Given the description of an element on the screen output the (x, y) to click on. 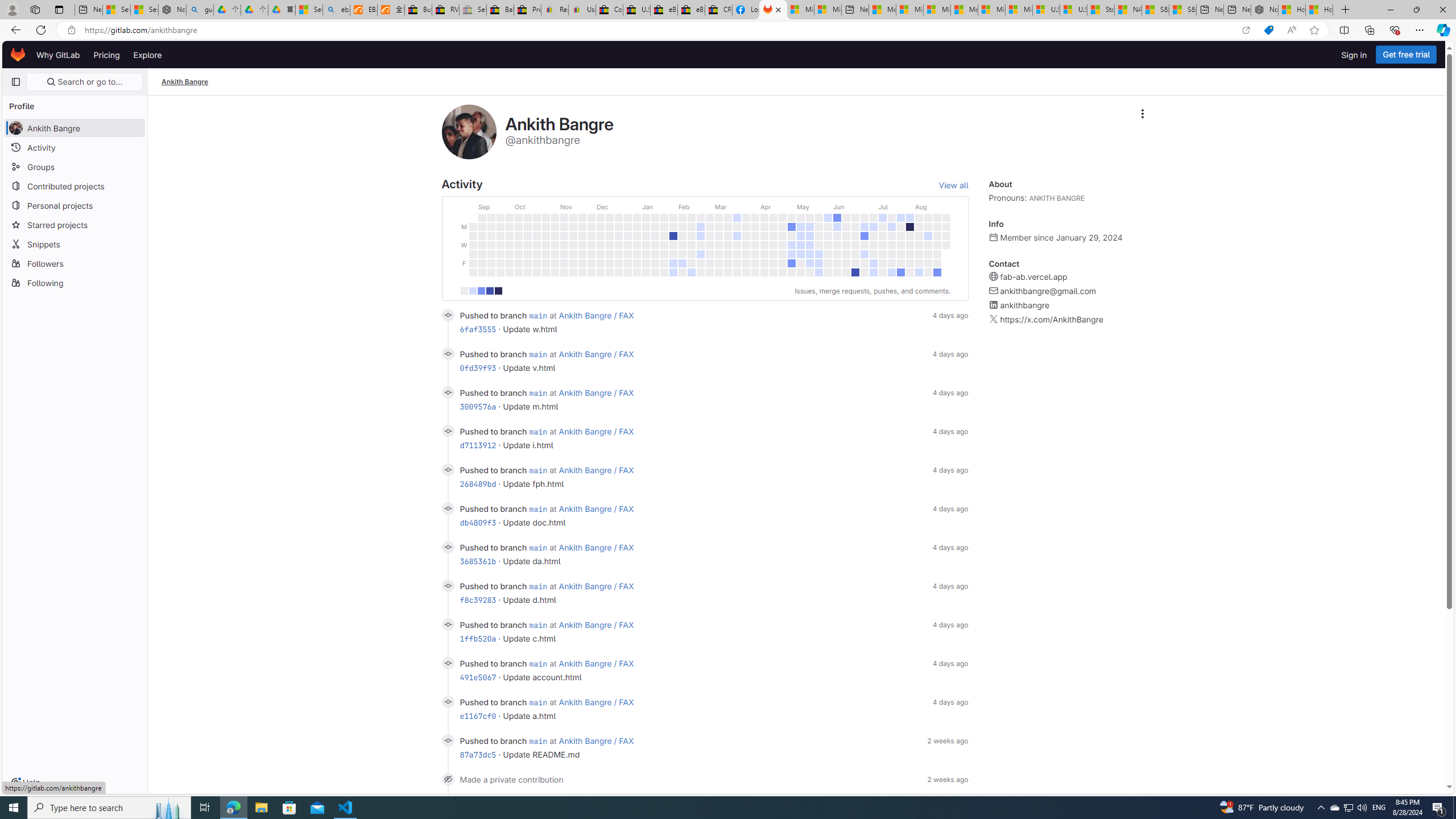
Get free trial (1406, 54)
